Given the description of an element on the screen output the (x, y) to click on. 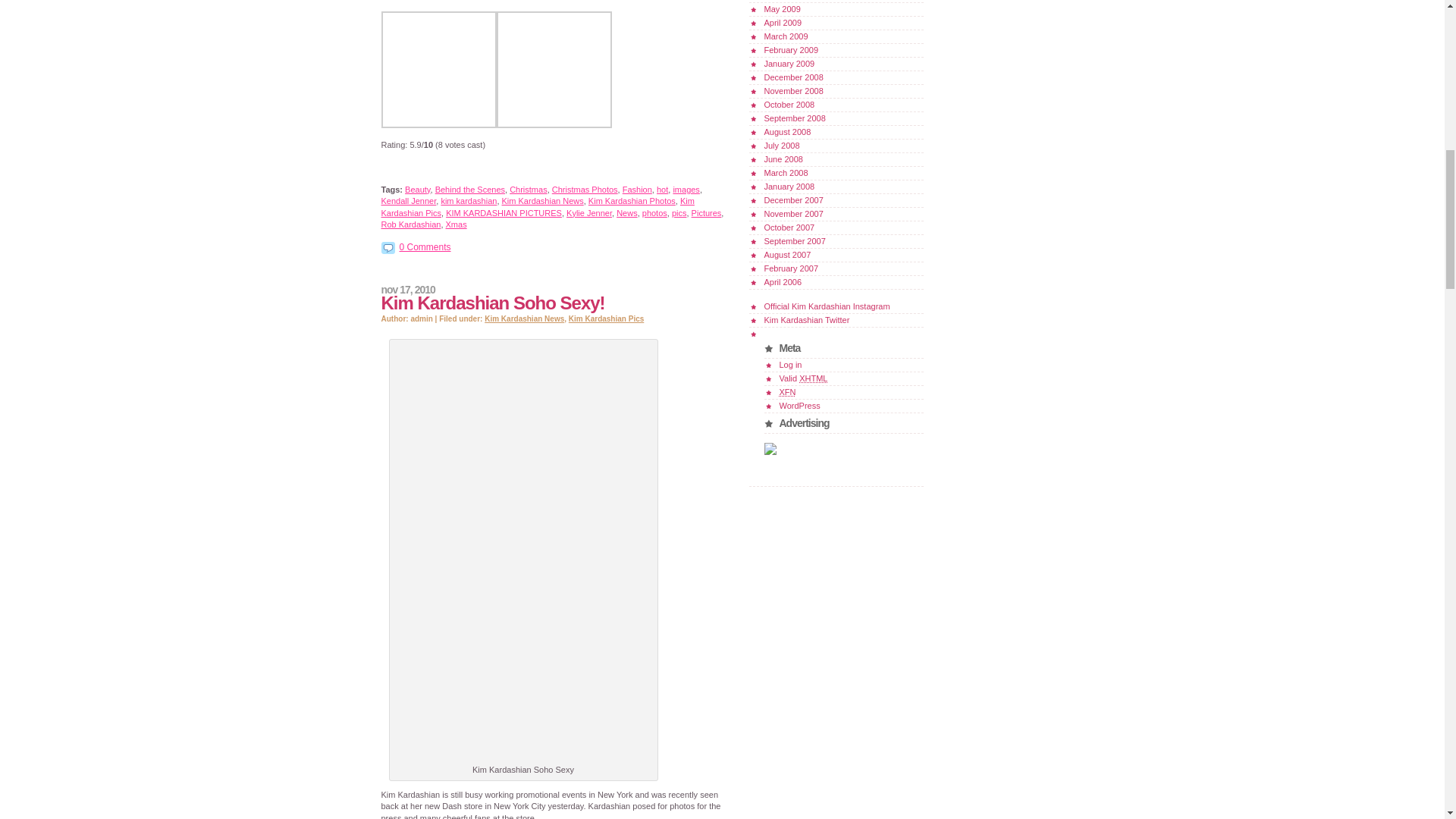
Christmas Photos (584, 189)
Behind the Scenes (470, 189)
 kardashians-christmas-photos  (438, 124)
Beauty (416, 189)
 kim-kardashian-kendall-jenner  (553, 124)
Fashion (637, 189)
hot (662, 189)
Christmas (528, 189)
